Given the description of an element on the screen output the (x, y) to click on. 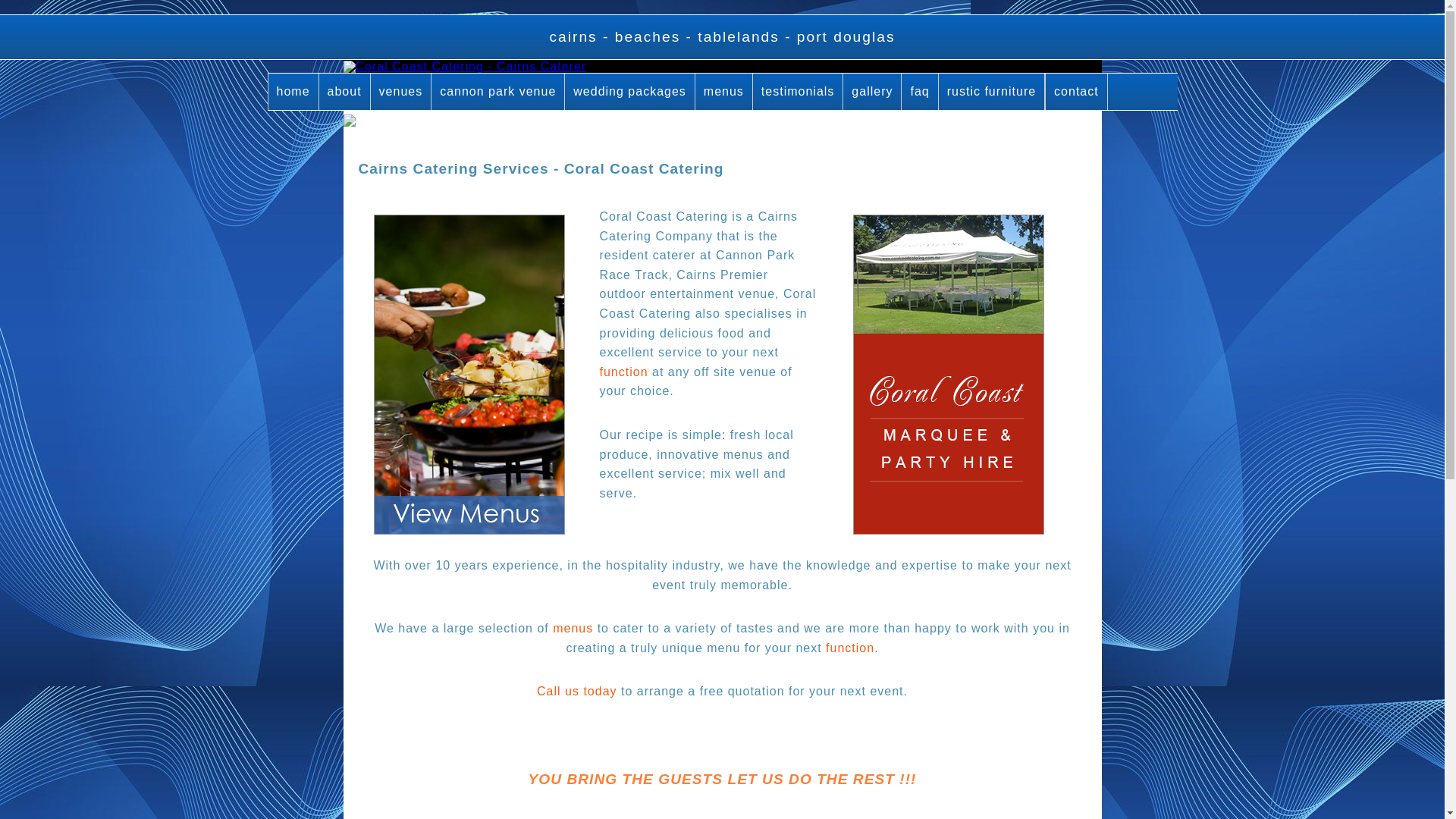
testimonials Element type: text (798, 91)
function Element type: text (849, 647)
function Element type: text (623, 371)
home Element type: text (293, 91)
menus Element type: text (572, 627)
contact Element type: text (1076, 91)
wedding packages Element type: text (629, 91)
gallery Element type: text (872, 91)
about Element type: text (344, 91)
Coral Coast Catering - Cairns Caterer Element type: hover (464, 66)
rustic furniture Element type: text (991, 91)
cannon park venue Element type: text (497, 91)
menus Element type: text (724, 91)
venues Element type: text (401, 91)
faq Element type: text (919, 91)
Call us today Element type: text (576, 690)
